Given the description of an element on the screen output the (x, y) to click on. 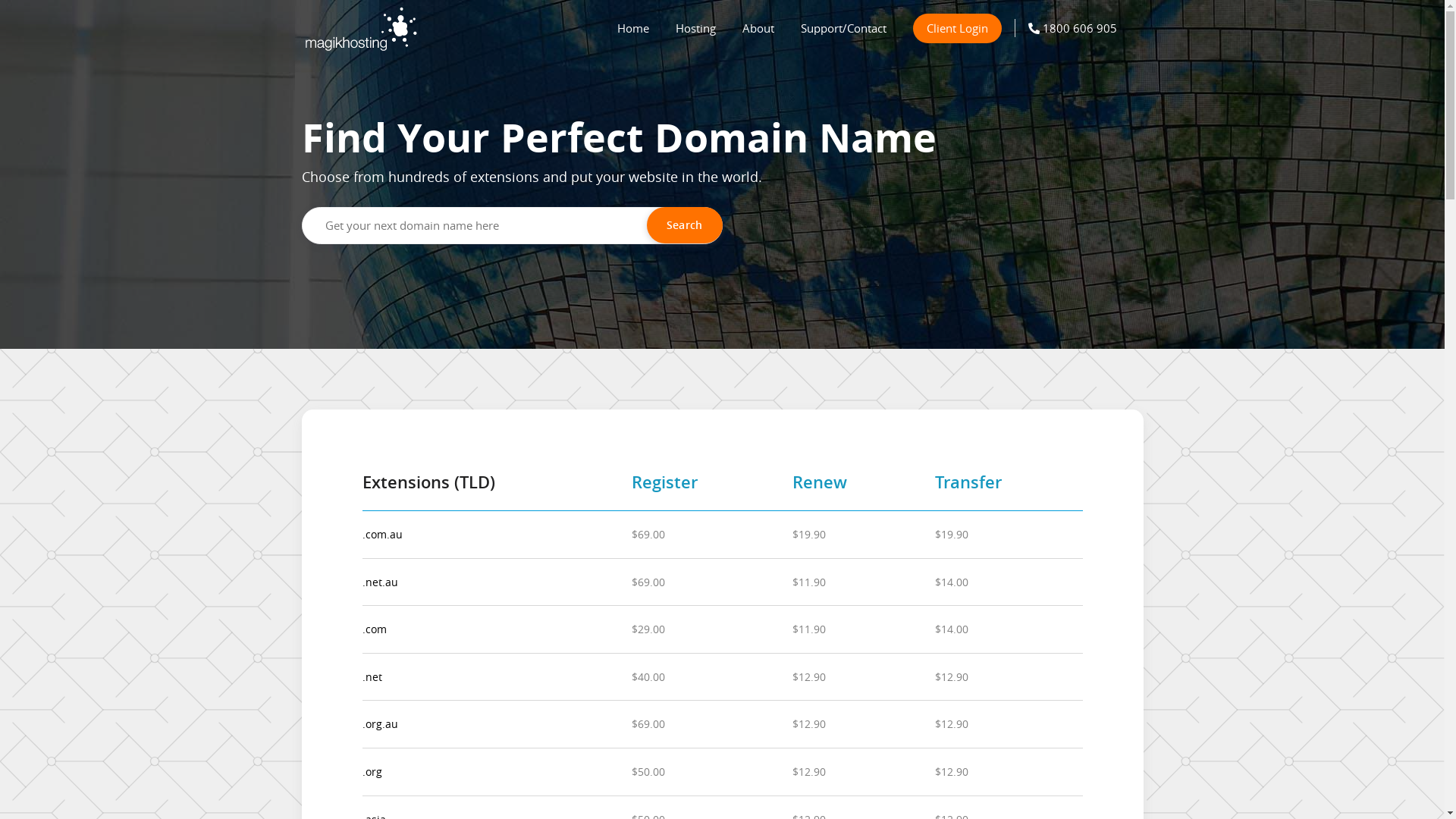
Home Element type: text (633, 24)
Support/Contact Element type: text (843, 24)
Client Login Element type: text (957, 28)
About Element type: text (757, 24)
Hosting Element type: text (694, 24)
Search Element type: text (684, 225)
1800 606 905 Element type: text (1072, 24)
